Given the description of an element on the screen output the (x, y) to click on. 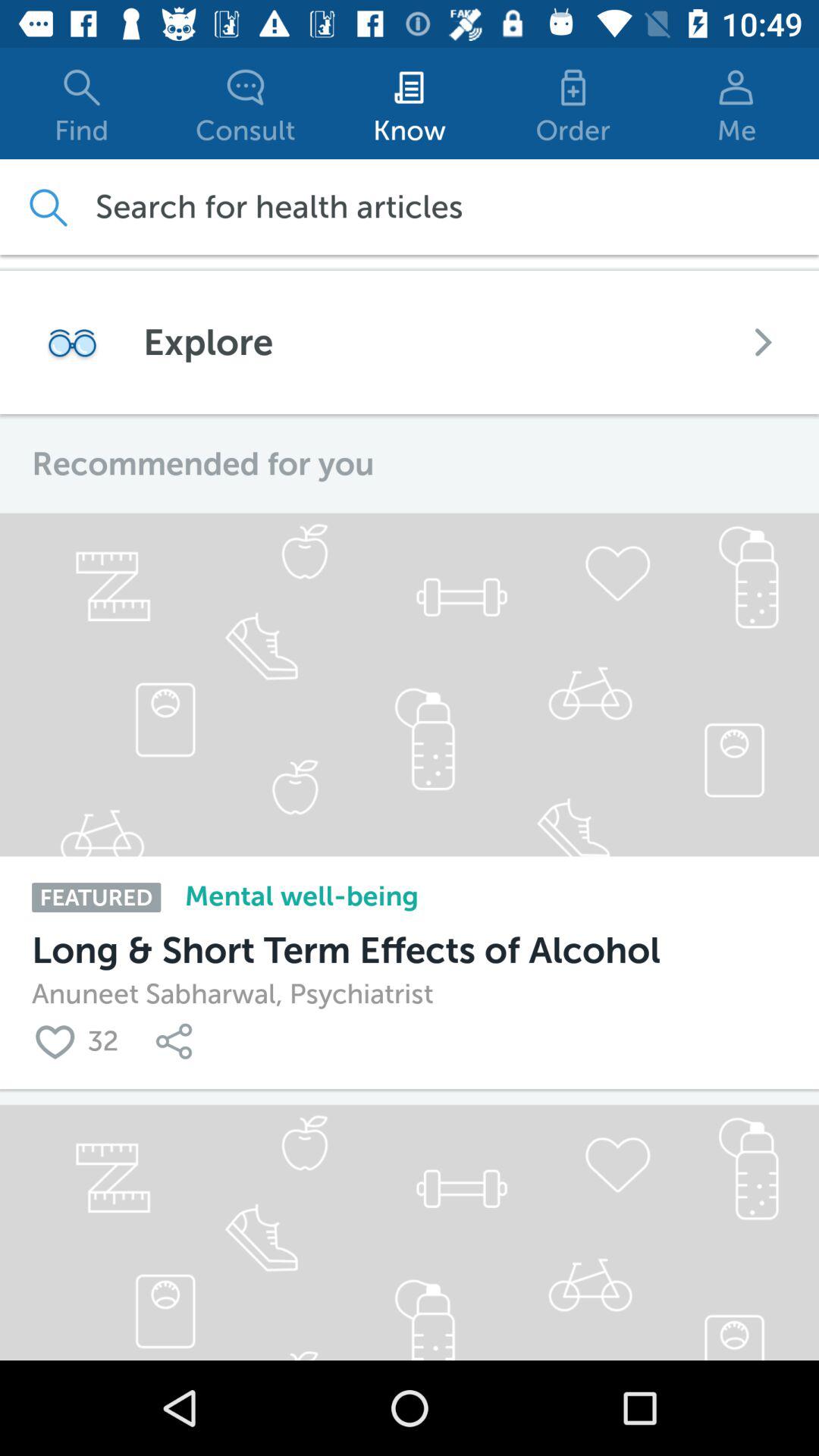
links (177, 1041)
